Given the description of an element on the screen output the (x, y) to click on. 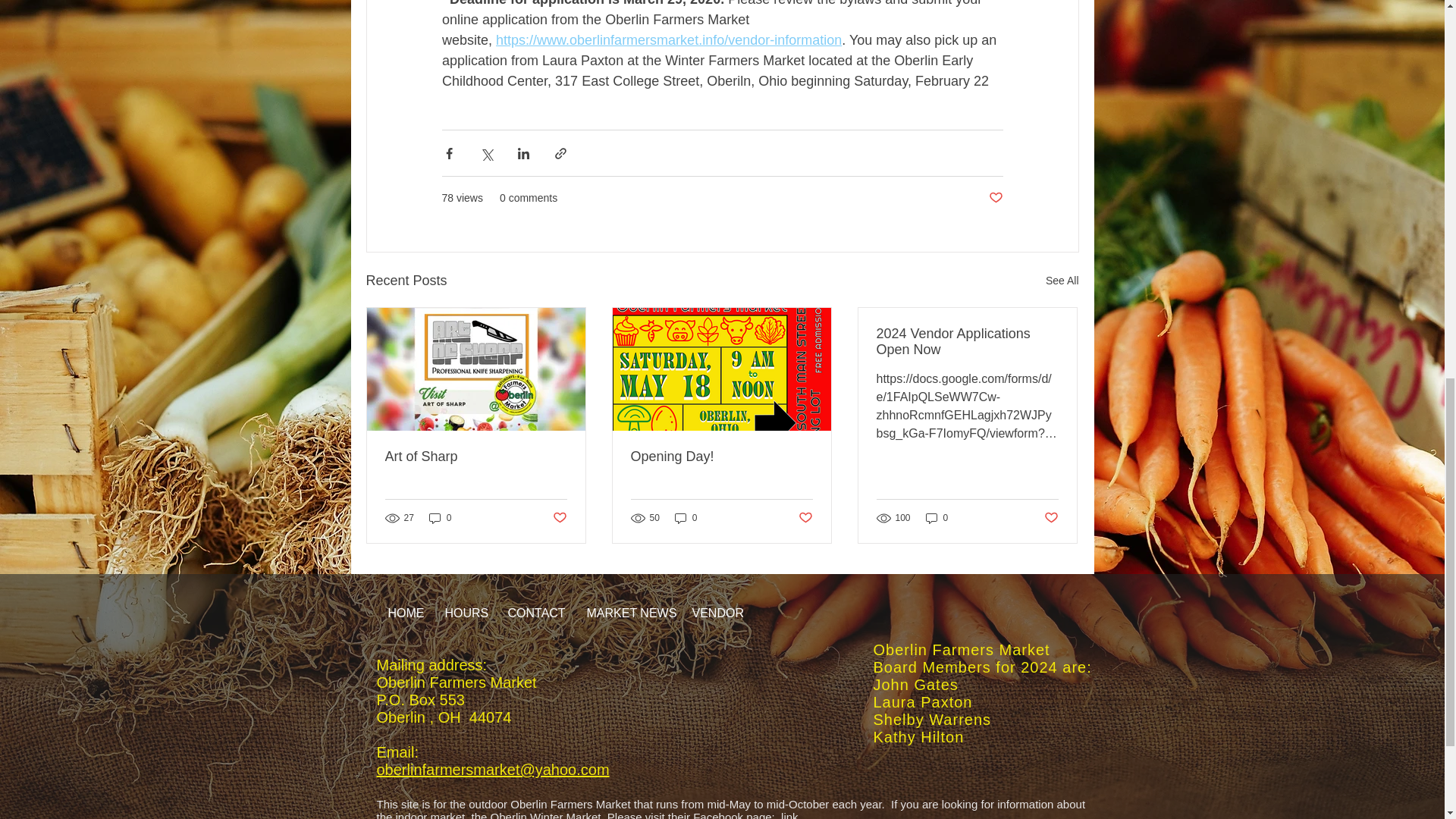
Post not marked as liked (995, 198)
Post not marked as liked (1050, 518)
0 (440, 518)
MARKET NEWS (627, 612)
Opening Day! (721, 456)
VENDOR (716, 612)
Post not marked as liked (804, 518)
CONTACT (535, 612)
2024 Vendor Applications Open Now (967, 341)
Post not marked as liked (558, 518)
Oberlin Winter Market,  (548, 814)
See All (1061, 280)
Art of Sharp (476, 456)
0 (937, 518)
HOME (403, 612)
